Given the description of an element on the screen output the (x, y) to click on. 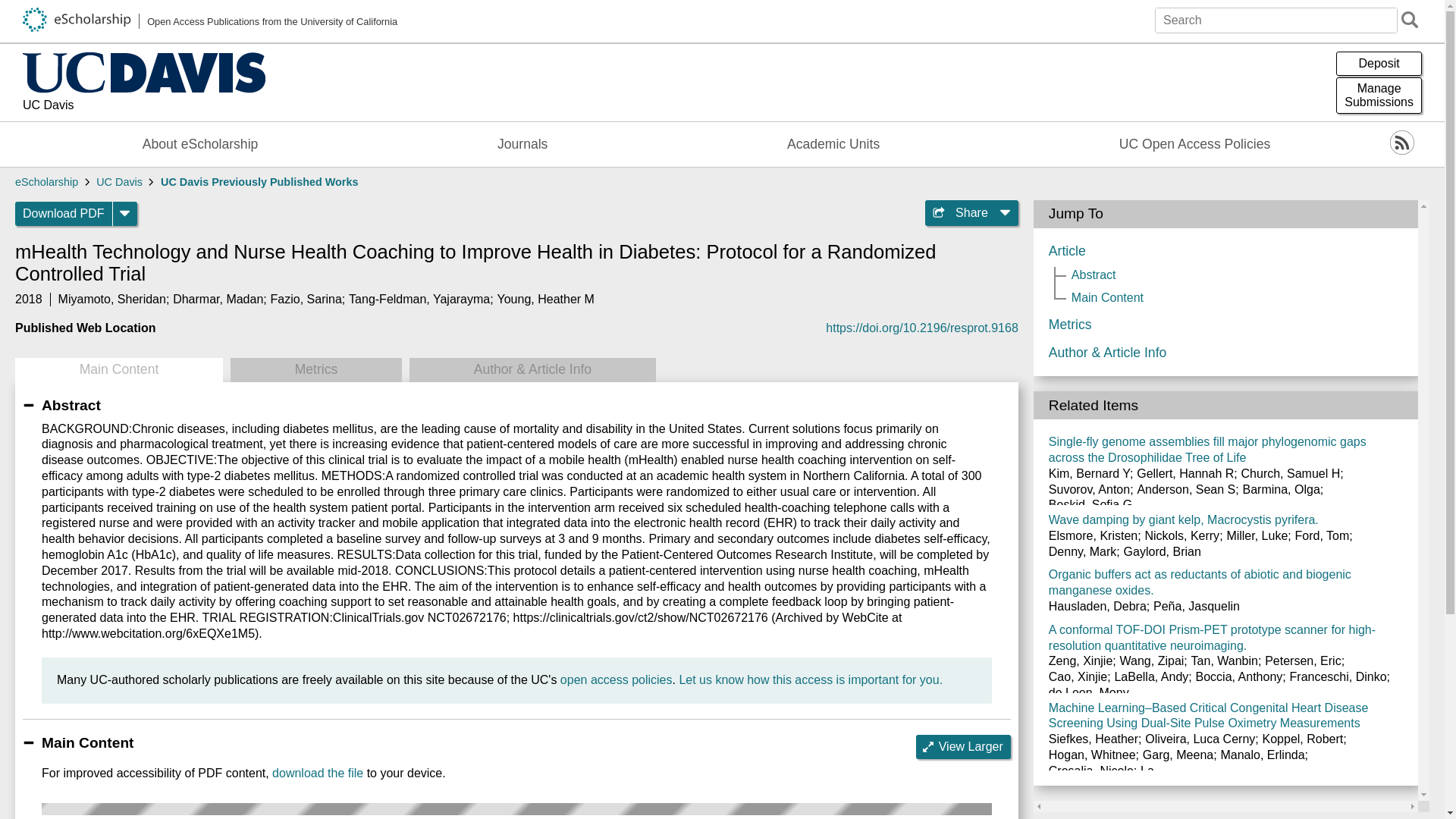
Academic Units (832, 143)
Metrics (315, 369)
download the file (1379, 94)
Download PDF (317, 772)
open access policies (63, 213)
Fazio, Sarina (616, 679)
UC Davis Previously Published Works (306, 298)
Open Access Publications from the University of California (259, 182)
UC Open Access Policies (210, 21)
eScholarship (1195, 143)
Let us know how this access is important for you. (46, 182)
Young, Heather M (810, 679)
Dharmar, Madan (545, 298)
Journals (218, 298)
